Given the description of an element on the screen output the (x, y) to click on. 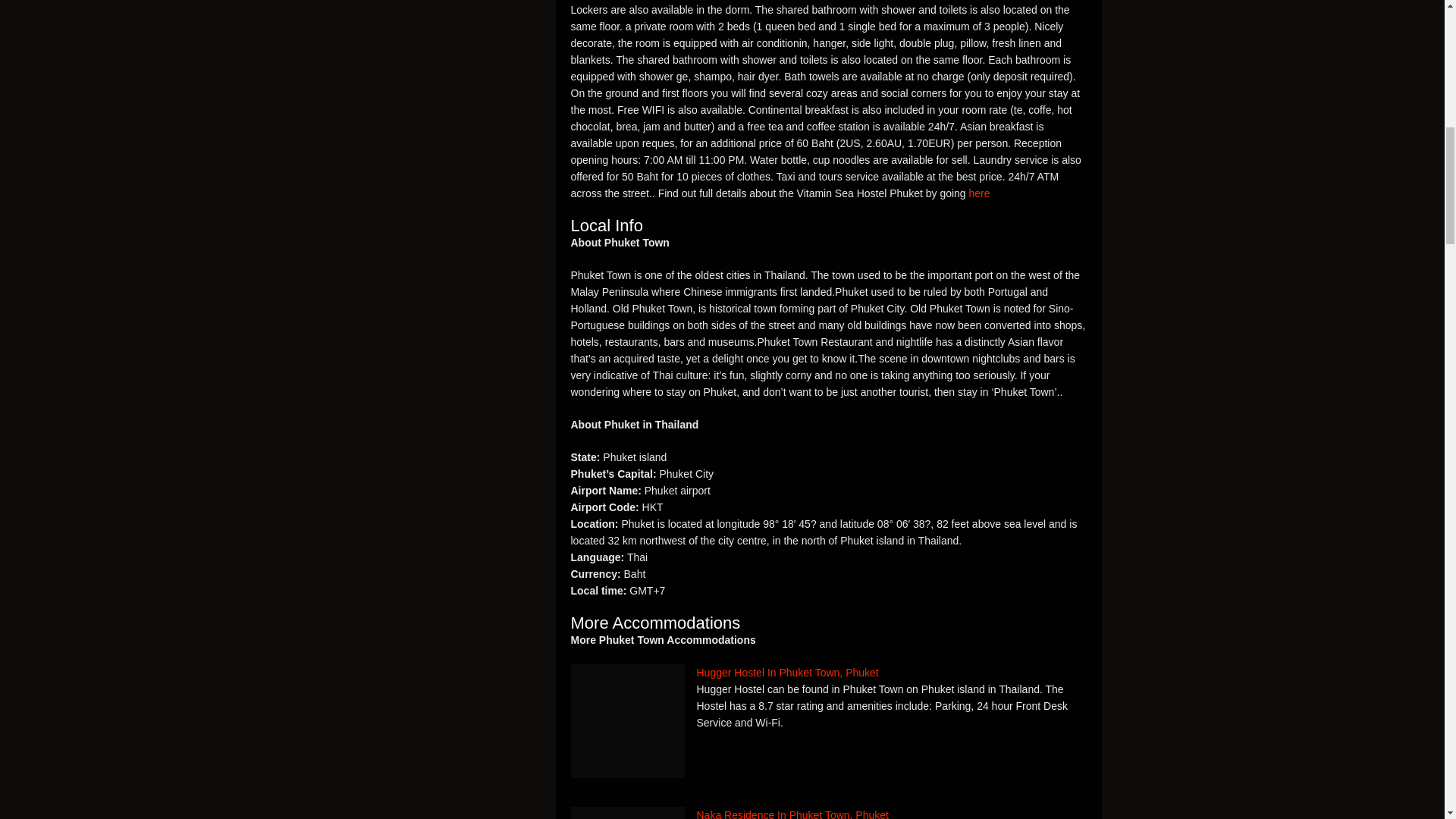
Hugger Hostel in Phuket Town (627, 721)
Naka Residence In Phuket Town, Phuket (828, 812)
Naka Residence in Phuket Town (627, 812)
Hugger Hostel In Phuket Town, Phuket (828, 672)
here (979, 193)
